Given the description of an element on the screen output the (x, y) to click on. 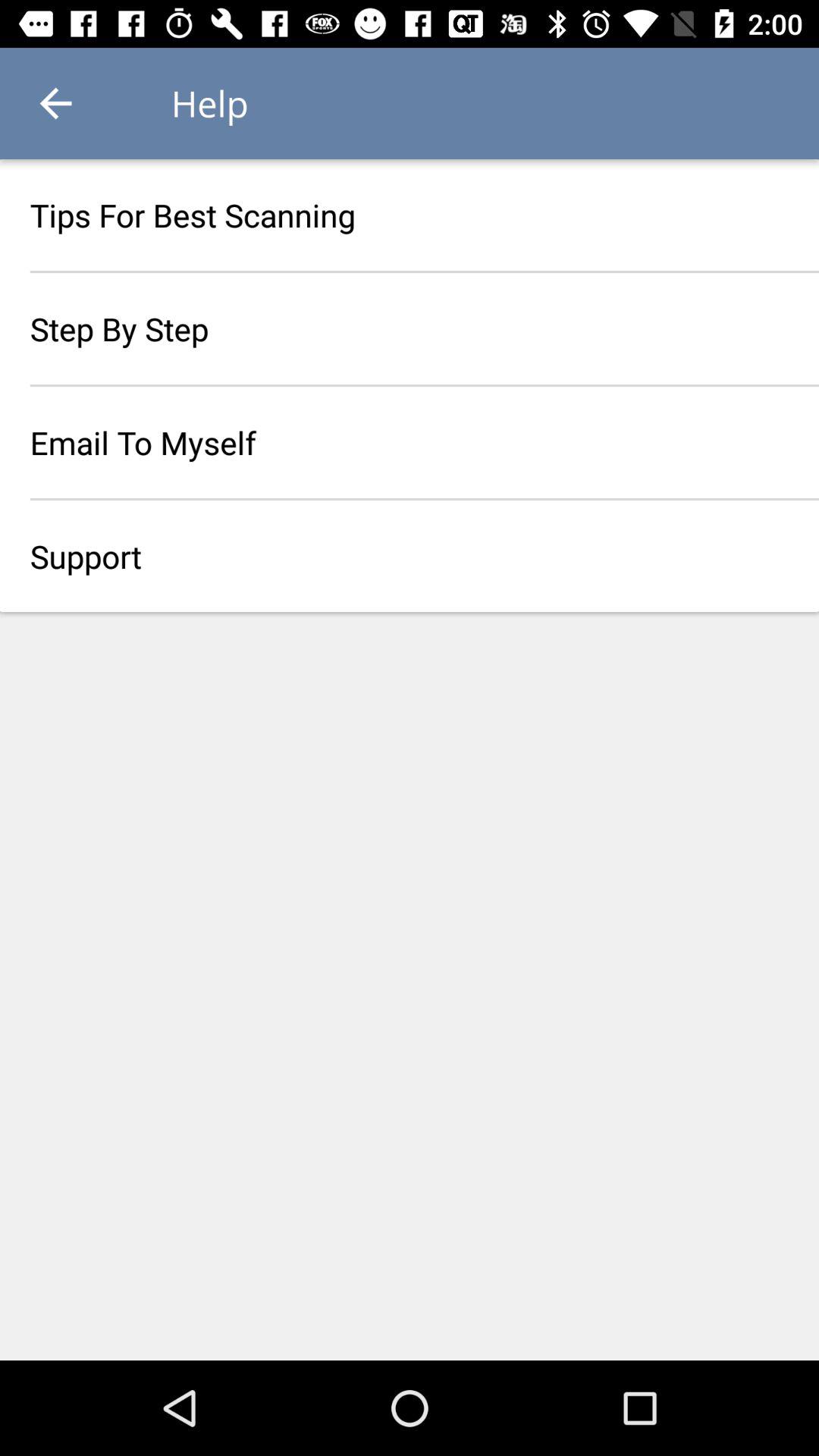
turn off icon above the tips for best (55, 103)
